Given the description of an element on the screen output the (x, y) to click on. 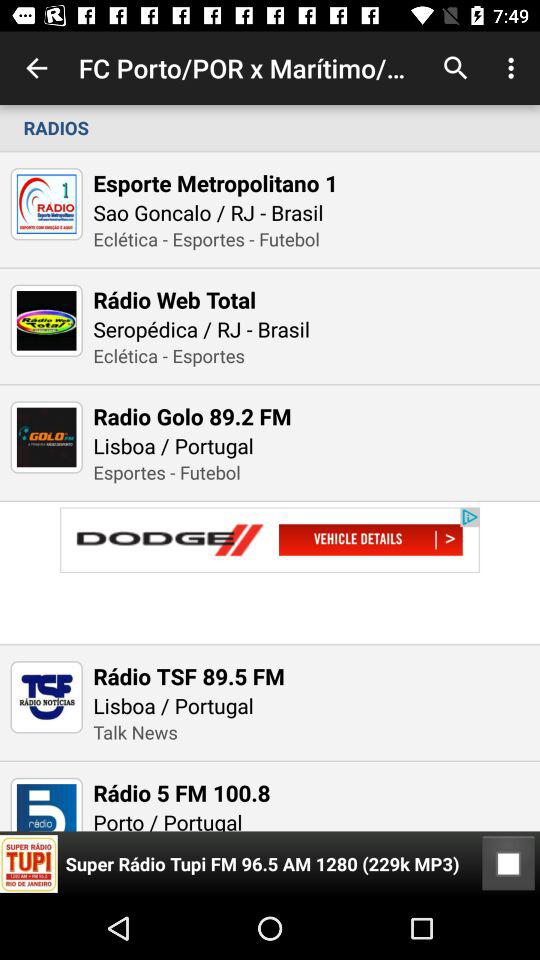
visit advertiser (270, 572)
